Given the description of an element on the screen output the (x, y) to click on. 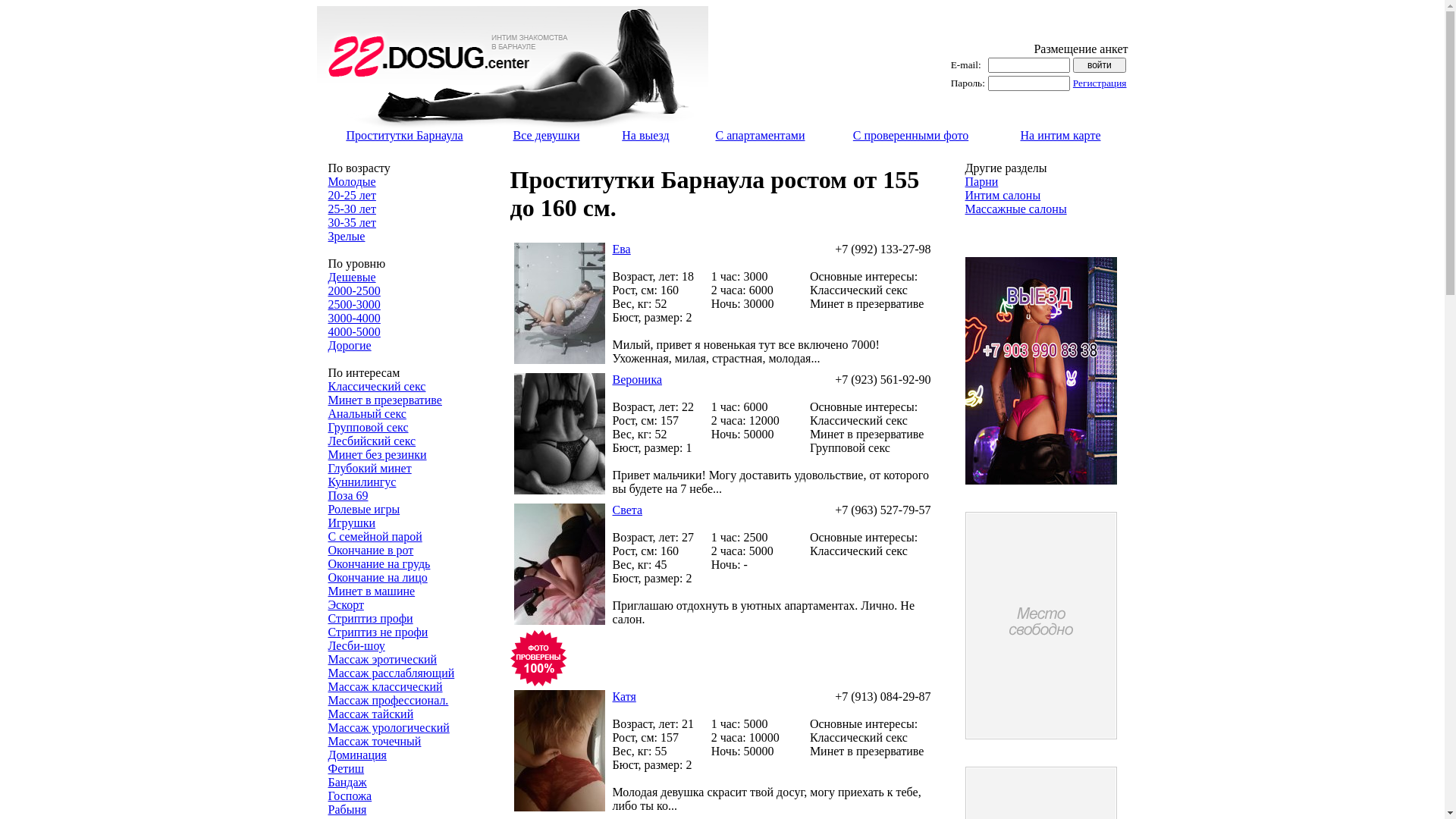
2000-2500 Element type: text (353, 290)
3000-4000 Element type: text (353, 317)
2500-3000 Element type: text (353, 304)
4000-5000 Element type: text (353, 331)
